Given the description of an element on the screen output the (x, y) to click on. 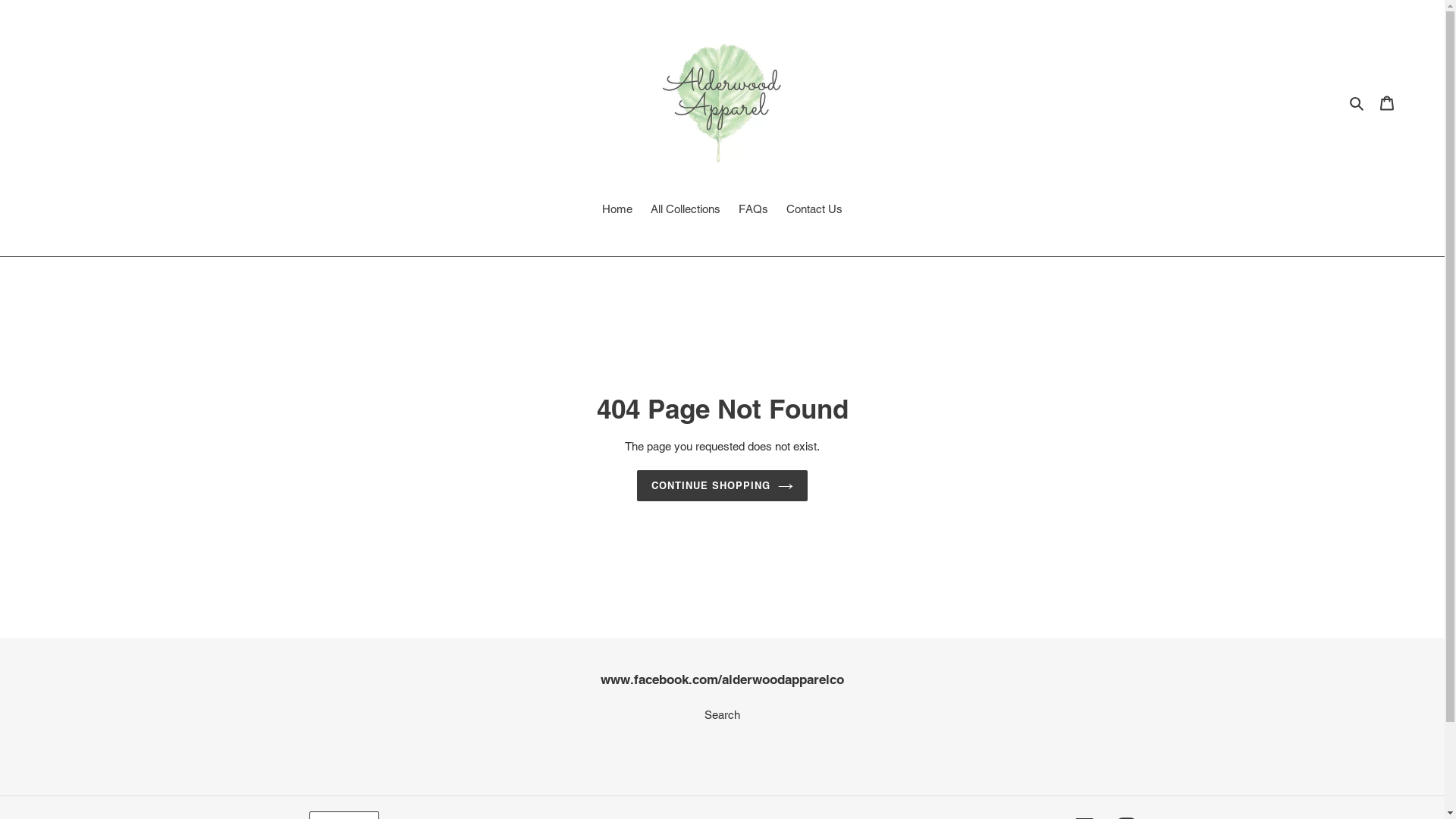
Search Element type: text (722, 714)
Cart Element type: text (1386, 102)
CONTINUE SHOPPING Element type: text (722, 486)
All Collections Element type: text (685, 210)
Search Element type: text (1357, 102)
Home Element type: text (617, 210)
Contact Us Element type: text (814, 210)
FAQs Element type: text (753, 210)
